Given the description of an element on the screen output the (x, y) to click on. 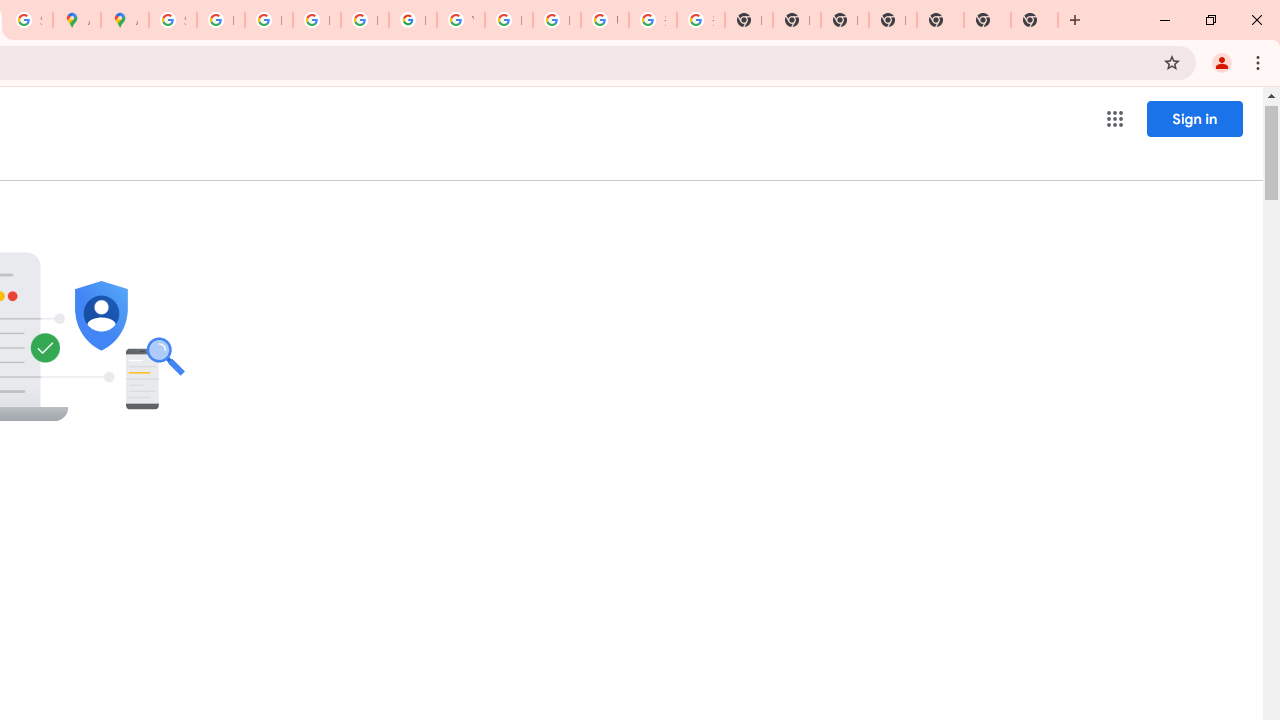
Bookmark this tab (1171, 62)
New Tab (987, 20)
Sign in (1194, 118)
You (1221, 62)
New Tab (1034, 20)
Google apps (1114, 118)
New Tab (892, 20)
Browse Chrome as a guest - Computer - Google Chrome Help (508, 20)
Privacy Help Center - Policies Help (316, 20)
YouTube (460, 20)
Restore (1210, 20)
